Given the description of an element on the screen output the (x, y) to click on. 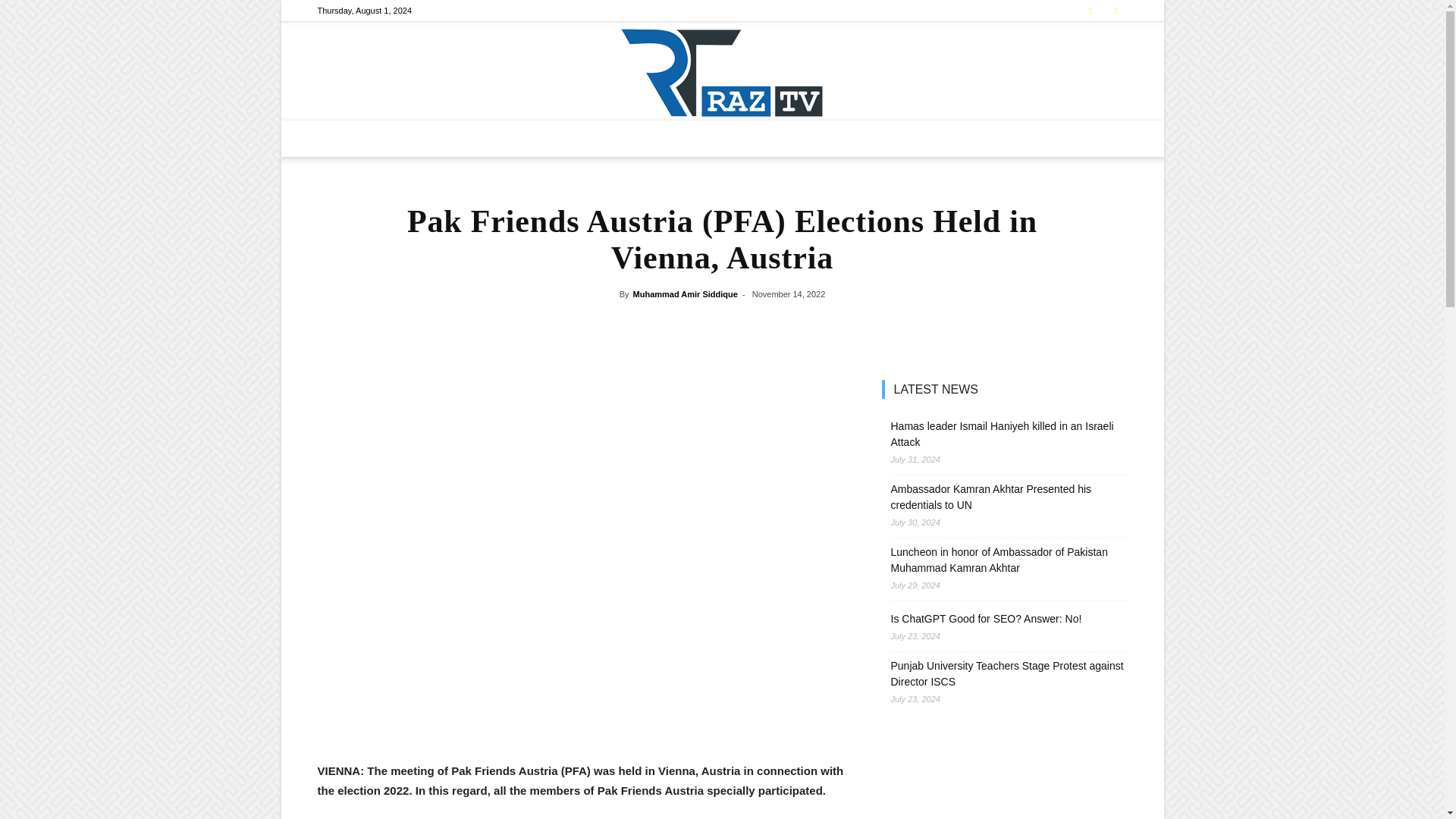
Pakistan (503, 138)
Blogs (829, 138)
RAZ TV (722, 71)
Advertisement (580, 722)
Home (407, 138)
Latest (452, 138)
Bangladesh (563, 138)
Poetry (874, 138)
World (721, 138)
Linkedin (1114, 10)
Facebook (1090, 10)
India (617, 138)
Liberland (668, 138)
